Given the description of an element on the screen output the (x, y) to click on. 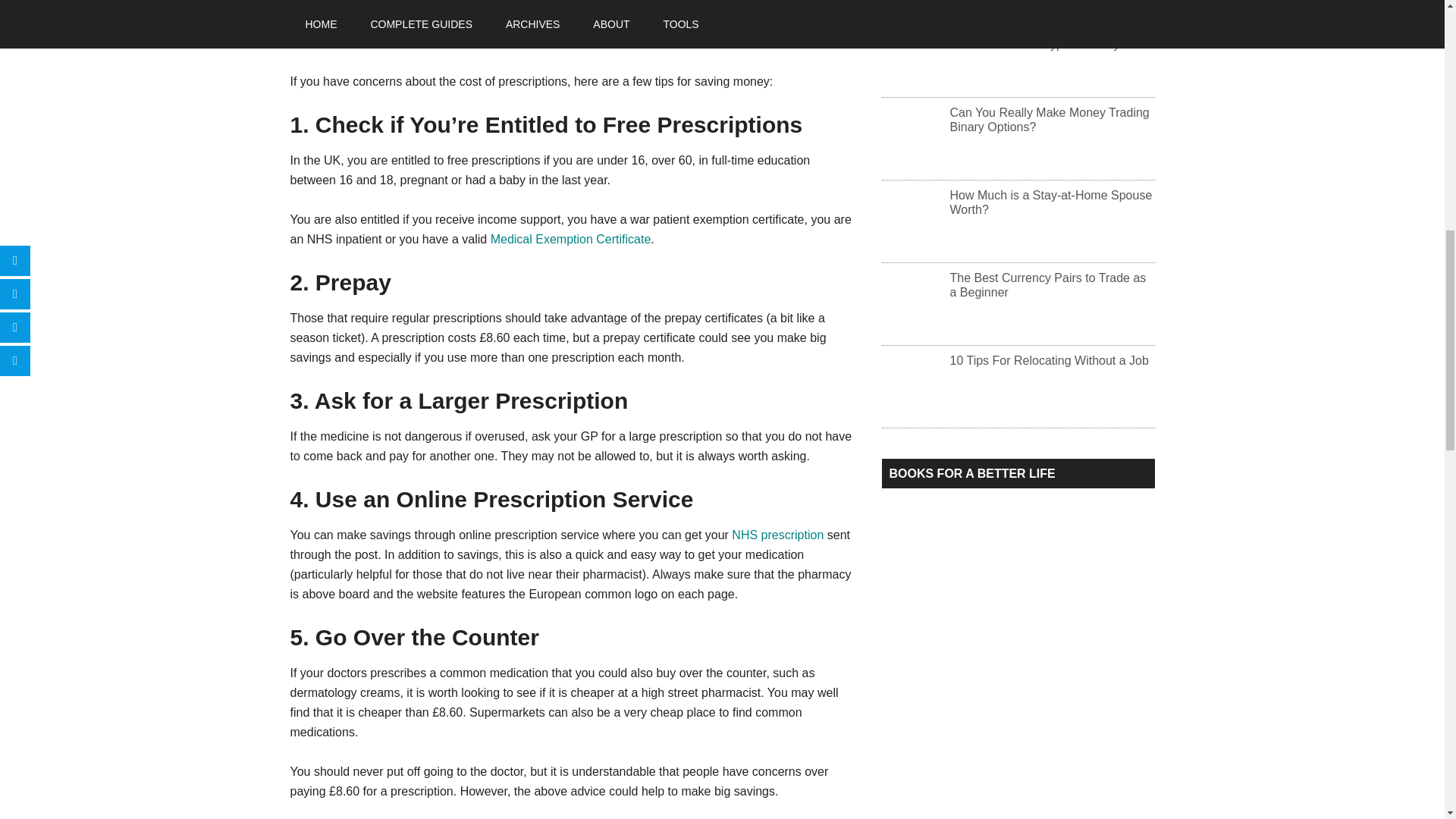
10 Branches of Growth (975, 657)
